Given the description of an element on the screen output the (x, y) to click on. 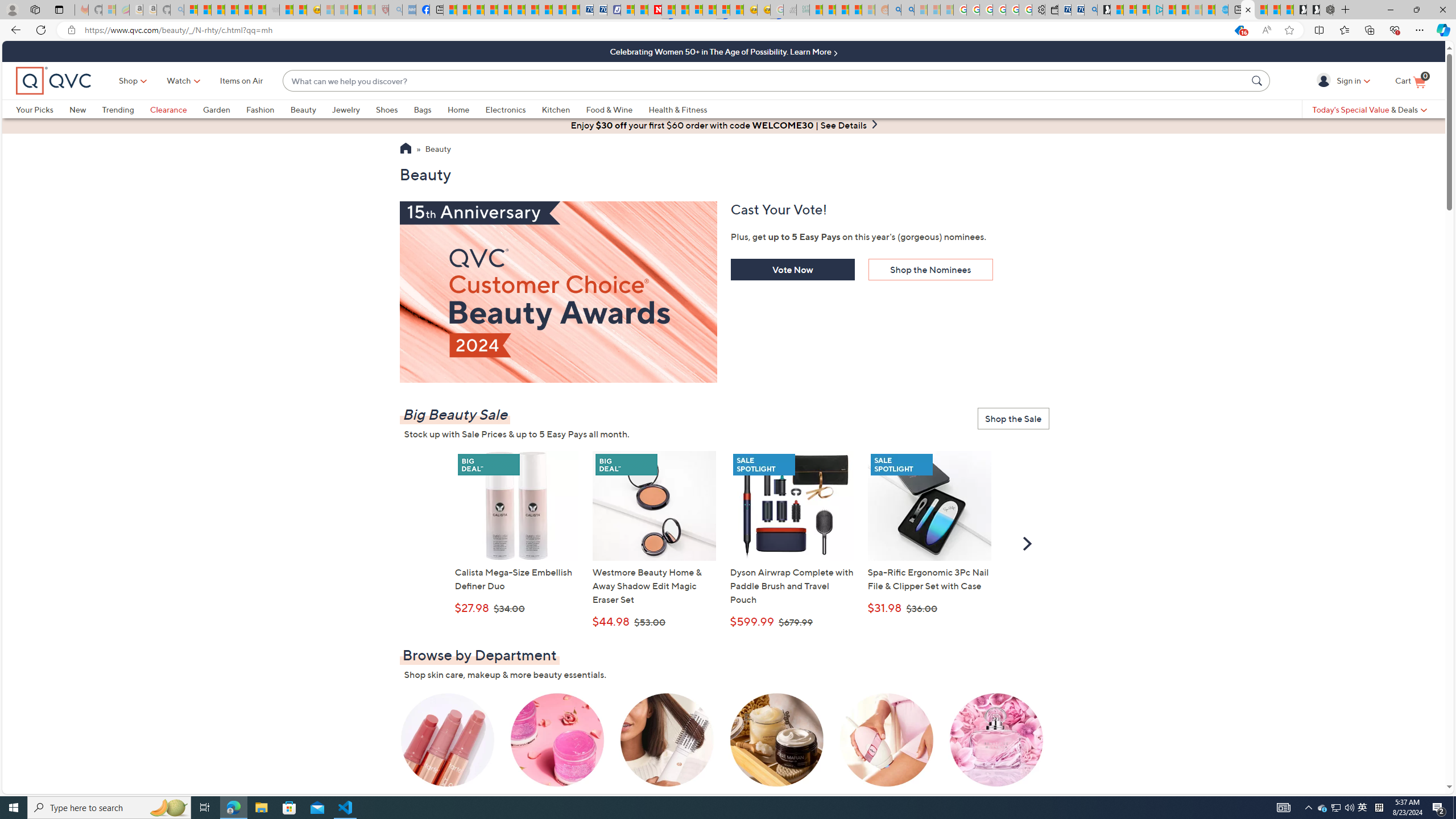
Today's Special Value & Deals (1369, 109)
Electronics (512, 109)
Science - MSN (354, 9)
Trending (125, 109)
Today's Special Value & Deals (1369, 109)
Sign in (1325, 80)
Makeup (447, 748)
Bags (429, 109)
Your Picks (42, 109)
Celebrating Women 50+ in The Age of Possibility. Learn More (723, 51)
Clearance (168, 109)
